Given the description of an element on the screen output the (x, y) to click on. 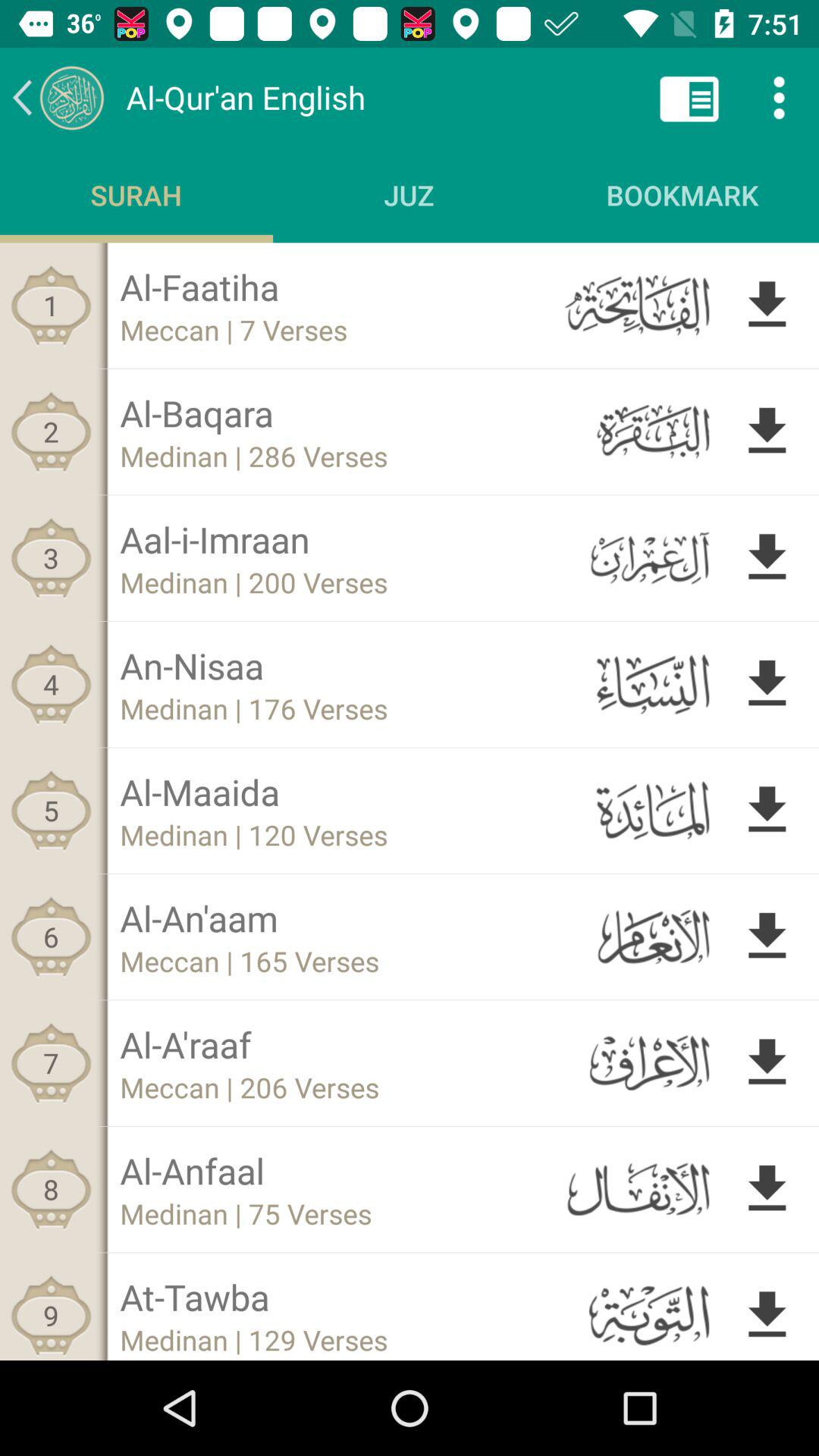
download surah 8 (767, 1189)
